Given the description of an element on the screen output the (x, y) to click on. 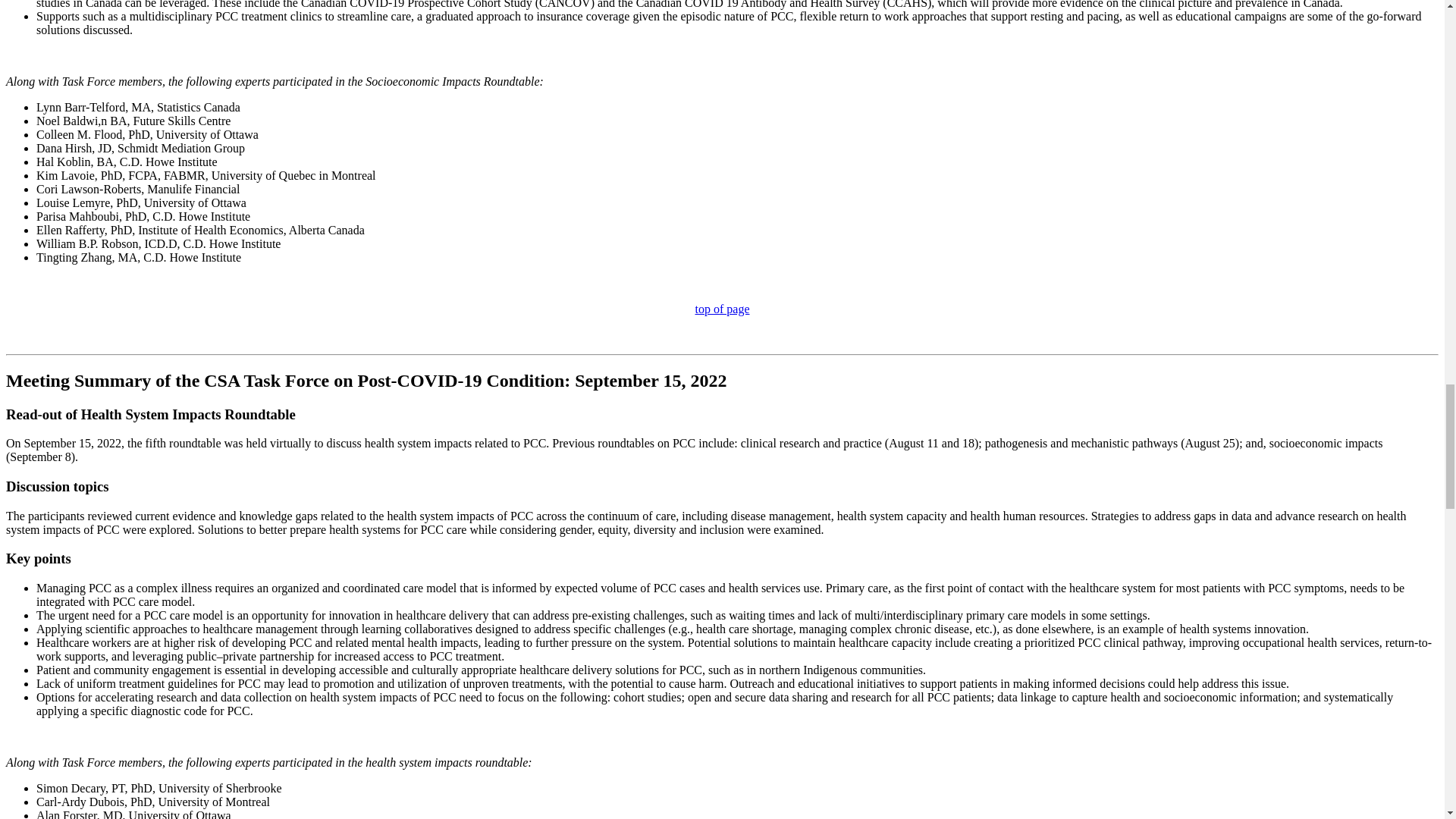
top of page (721, 308)
